Given the description of an element on the screen output the (x, y) to click on. 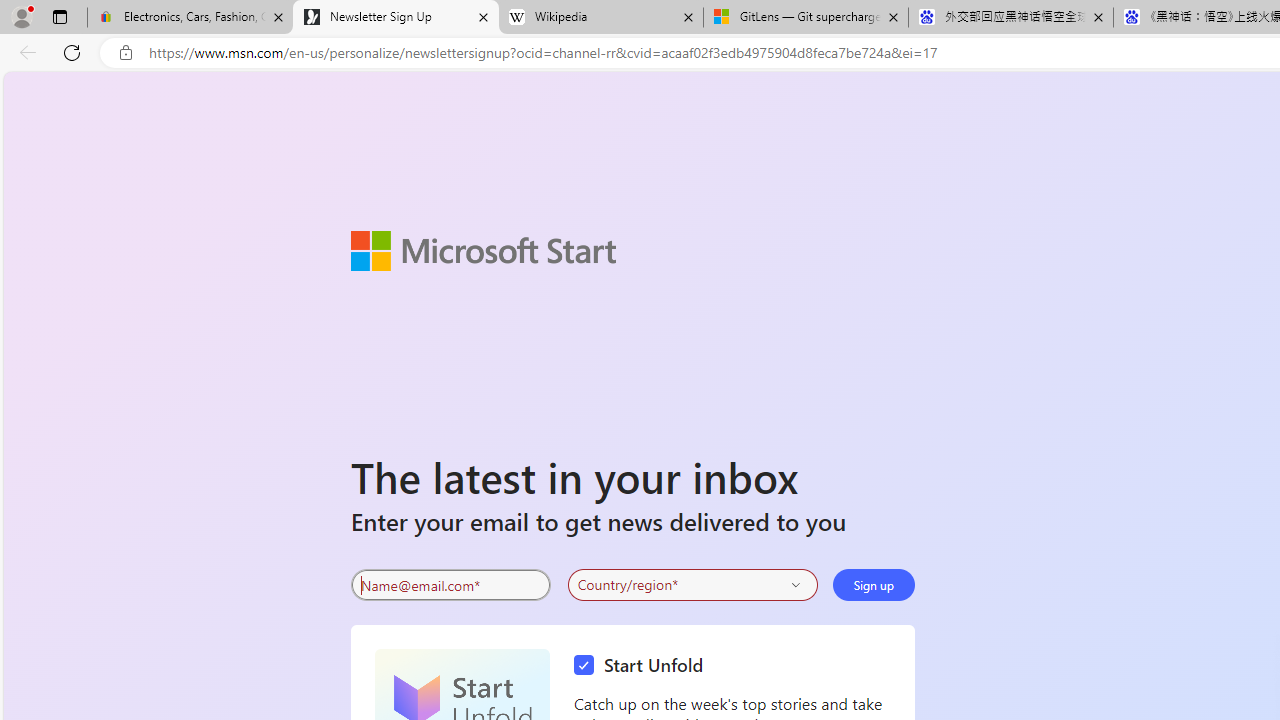
Wikipedia (600, 17)
Sign up (873, 584)
Electronics, Cars, Fashion, Collectibles & More | eBay (190, 17)
Newsletter Sign Up (395, 17)
Enter your email (450, 585)
Microsoft Start (482, 249)
Start Unfold (643, 665)
